Given the description of an element on the screen output the (x, y) to click on. 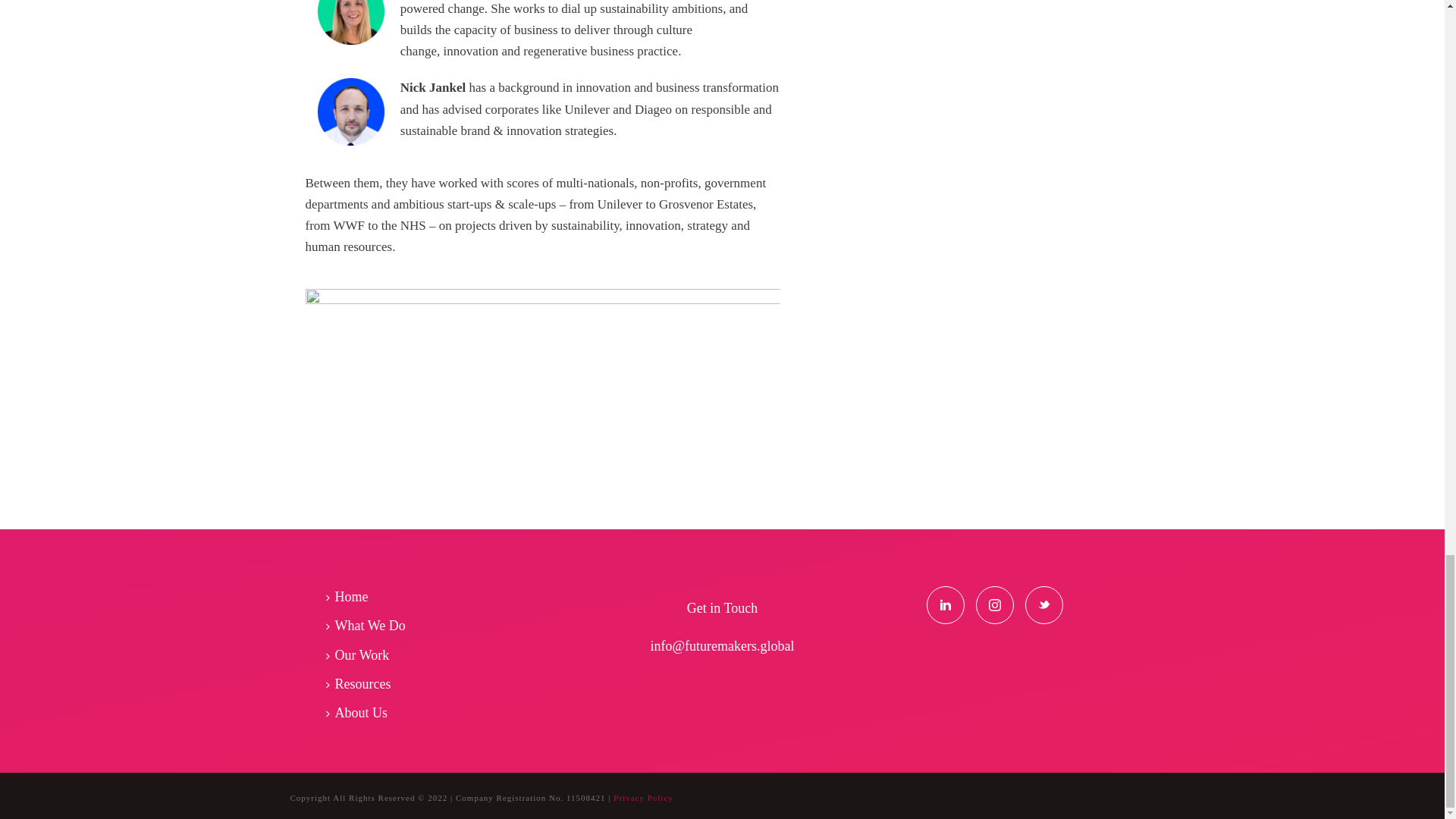
Follow Us on... twitter (1043, 605)
fm-worked-with-logos-panel (542, 366)
About Us (359, 712)
Follow Us on... linkedin (944, 605)
What We Do (368, 624)
Our Work (360, 654)
Resources (361, 683)
Follow Us on... instagram (994, 605)
fm-headshots-nick (351, 110)
Home (349, 596)
